Given the description of an element on the screen output the (x, y) to click on. 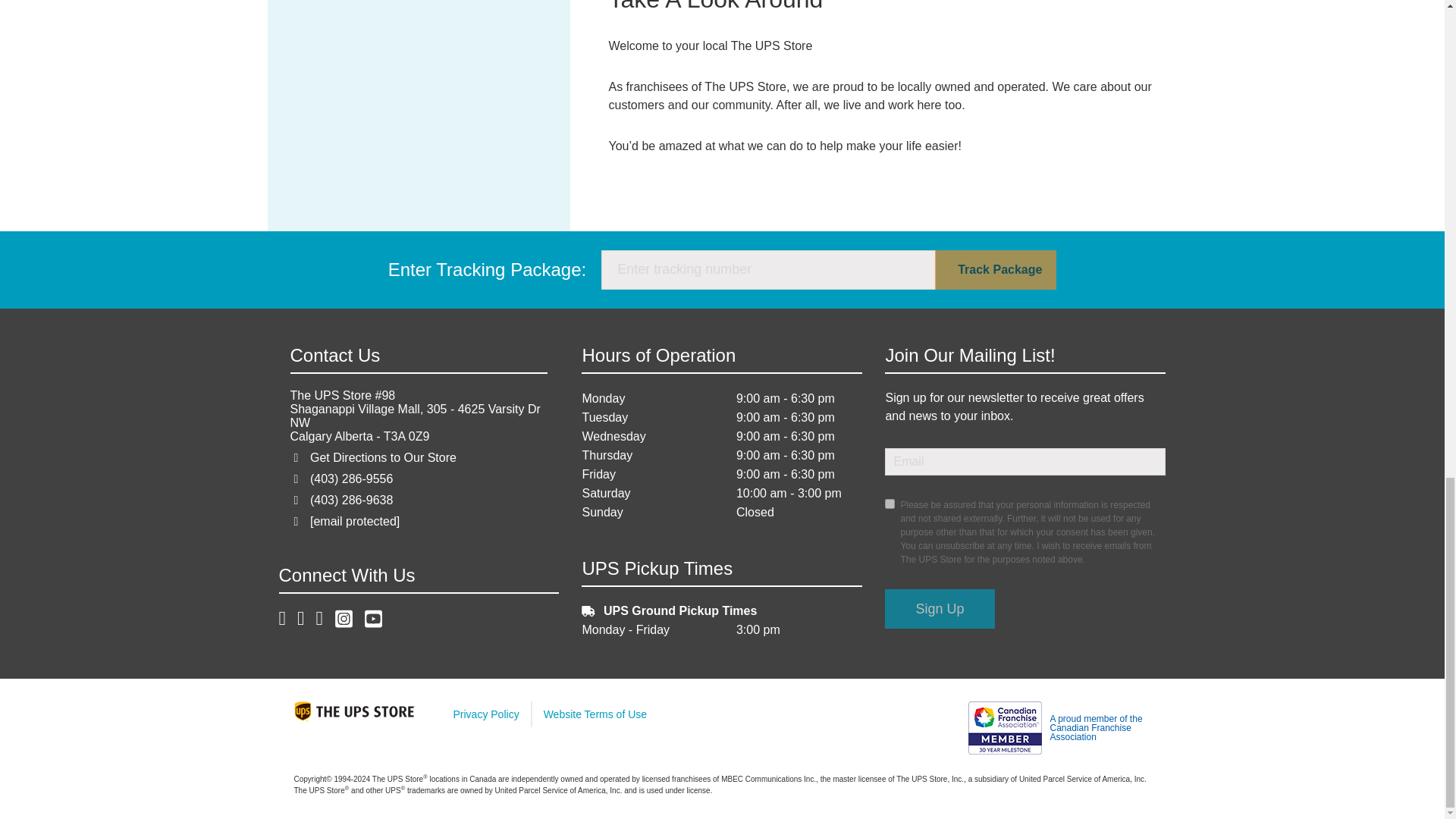
Track Package (995, 269)
Sign Up (939, 608)
Get Directions to Our Store (383, 457)
